Given the description of an element on the screen output the (x, y) to click on. 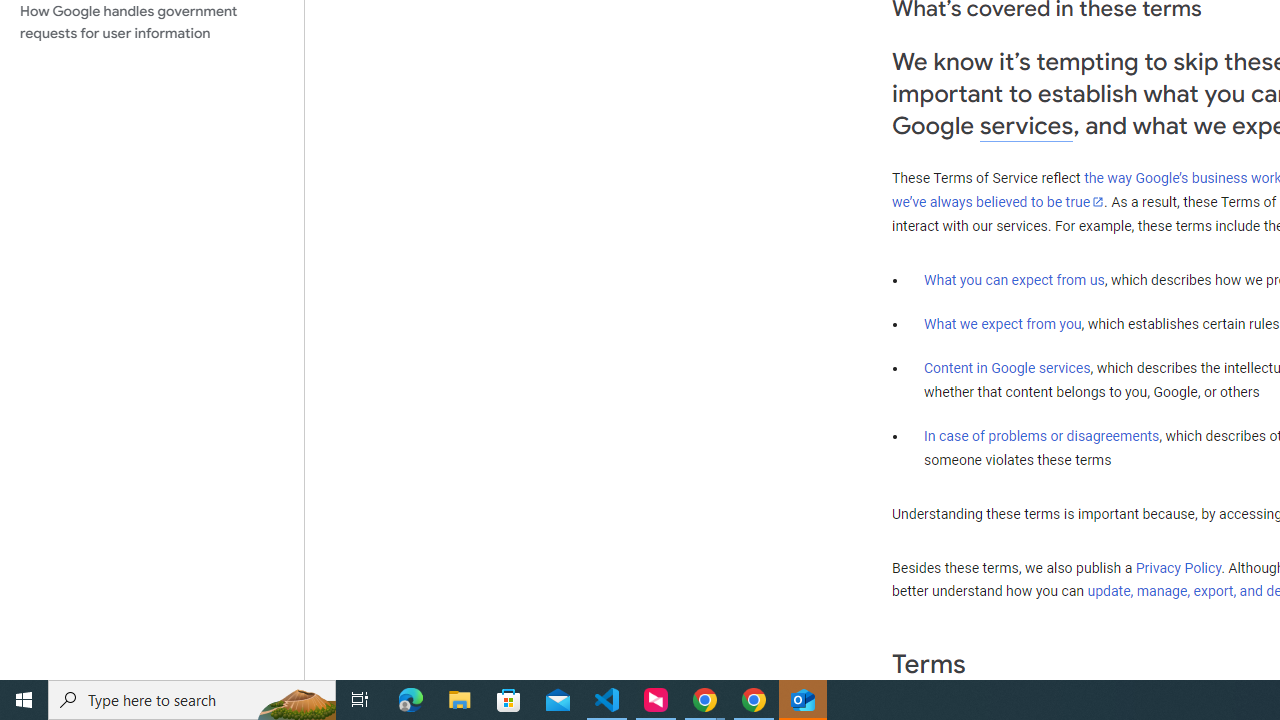
What you can expect from us (1014, 279)
What we expect from you (1002, 323)
In case of problems or disagreements (1041, 435)
services (1026, 125)
Content in Google services (1007, 368)
